Given the description of an element on the screen output the (x, y) to click on. 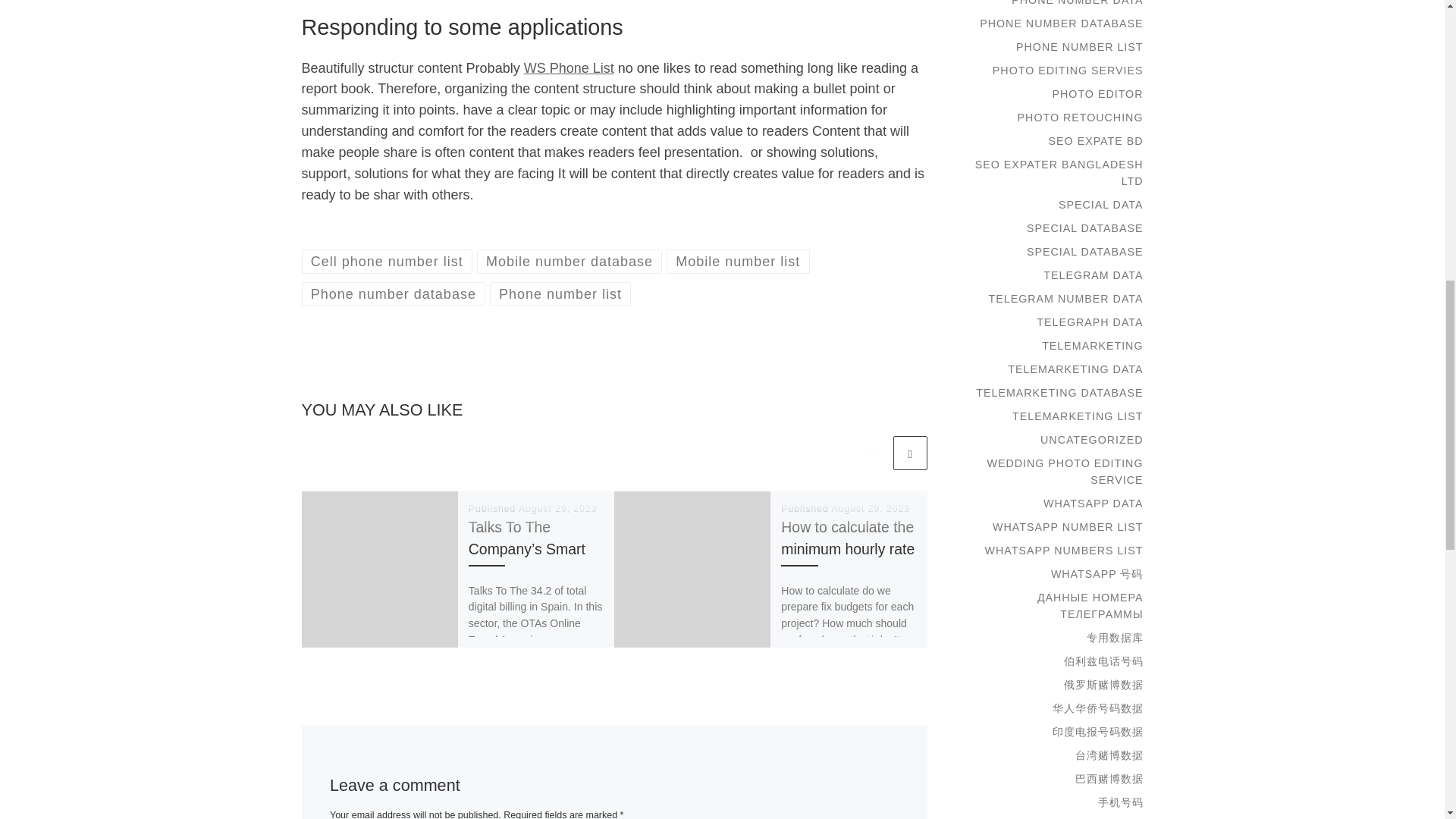
View all posts in Mobile number list (737, 260)
August 29, 2023 (870, 508)
Phone number database (393, 293)
WS Phone List (569, 68)
View all posts in Phone number database (393, 293)
How to calculate the minimum hourly rate (847, 537)
Phone number list (560, 293)
View all posts in Phone number list (560, 293)
Previous related articles (872, 452)
August 29, 2023 (557, 508)
Mobile number database (569, 260)
Cell phone number list (387, 260)
Next related articles (910, 452)
View all posts in Mobile number database (569, 260)
Mobile number list (737, 260)
